Given the description of an element on the screen output the (x, y) to click on. 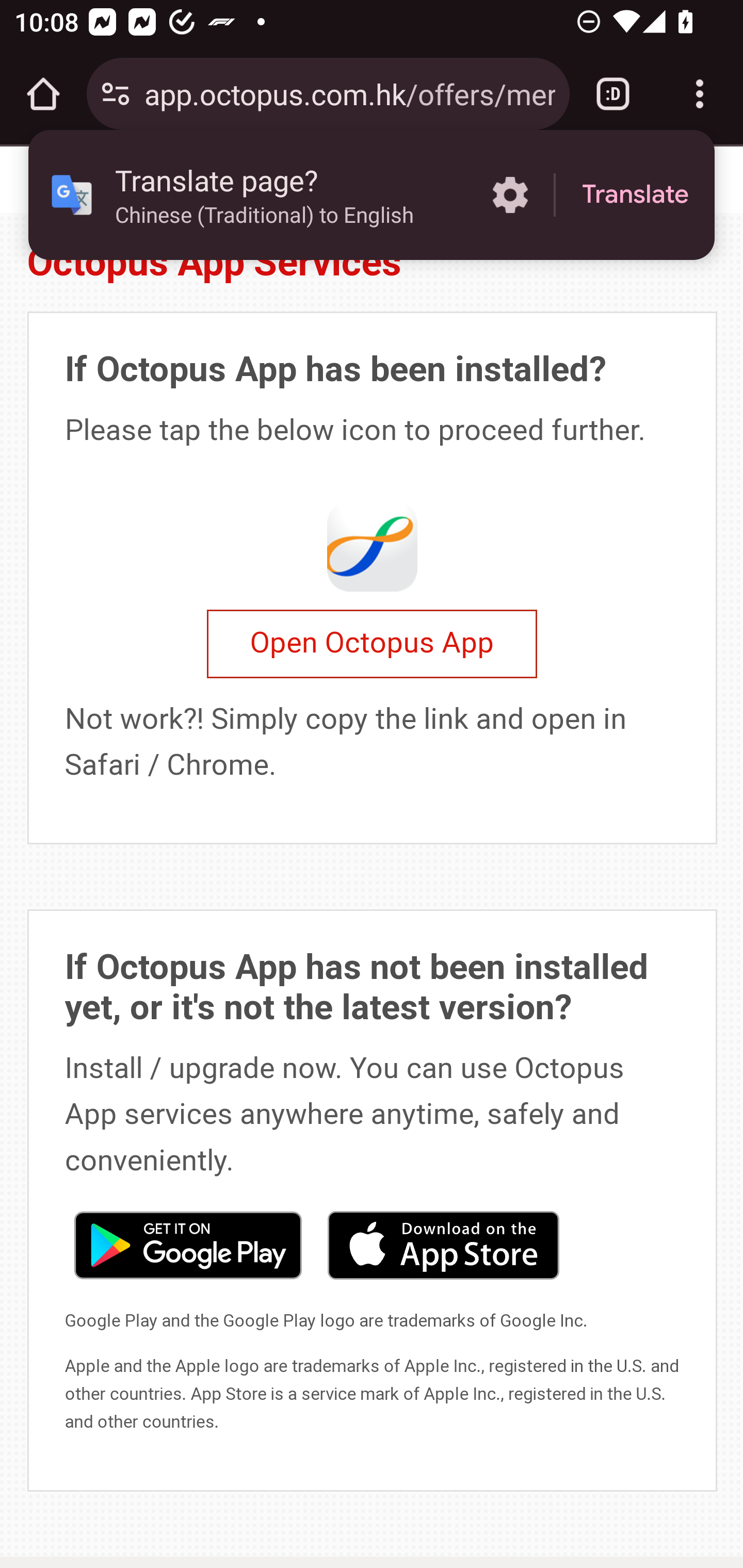
Open the home page (43, 93)
Connection is secure (115, 93)
Switch or close tabs (612, 93)
Customize and control Google Chrome (699, 93)
Translate (634, 195)
More options in the Translate page? (509, 195)
Open Octopus App (371, 643)
Get it on Google Play (187, 1243)
Download on the App Store (443, 1243)
